Given the description of an element on the screen output the (x, y) to click on. 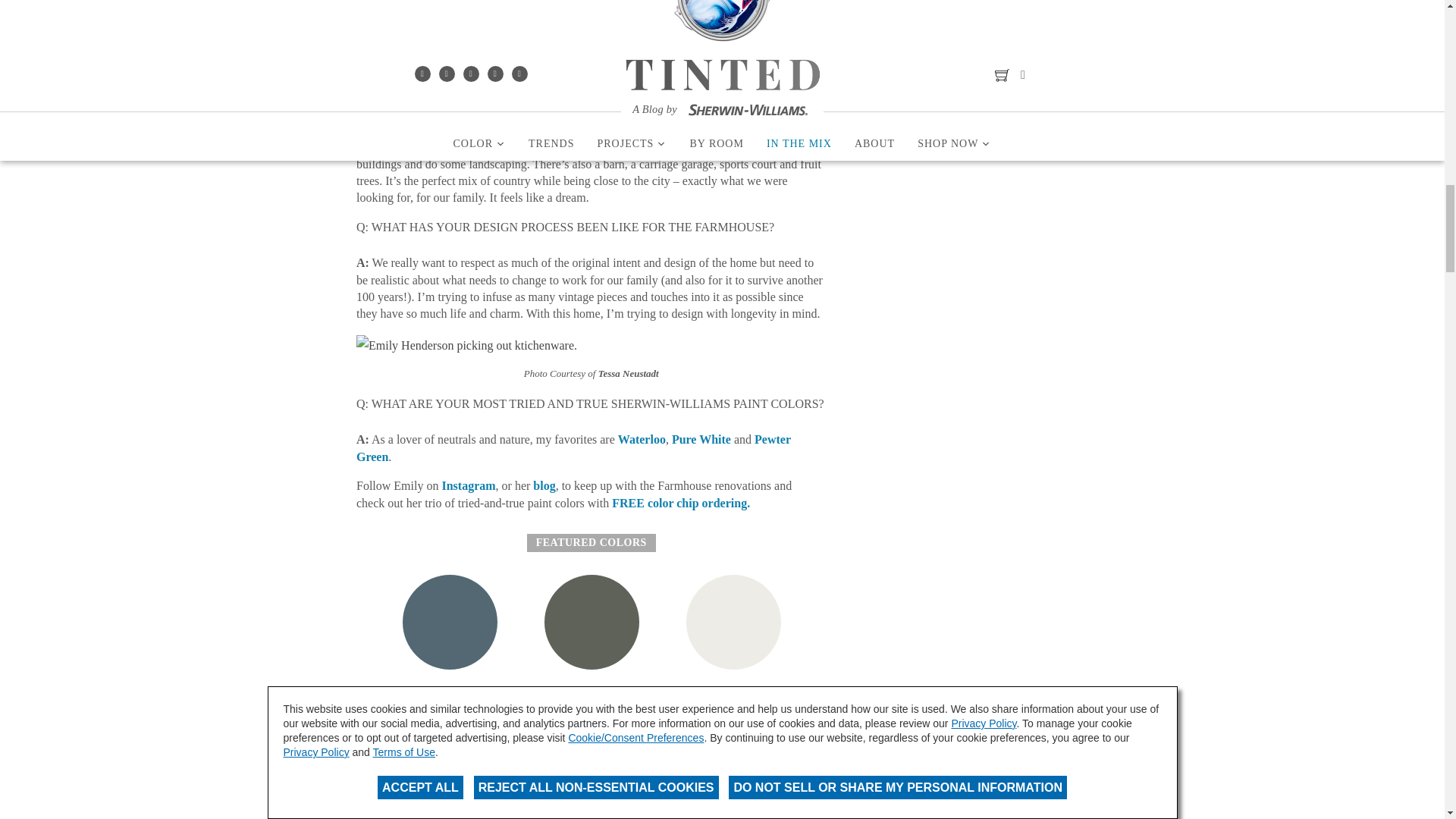
Facebook (365, 743)
